Given the description of an element on the screen output the (x, y) to click on. 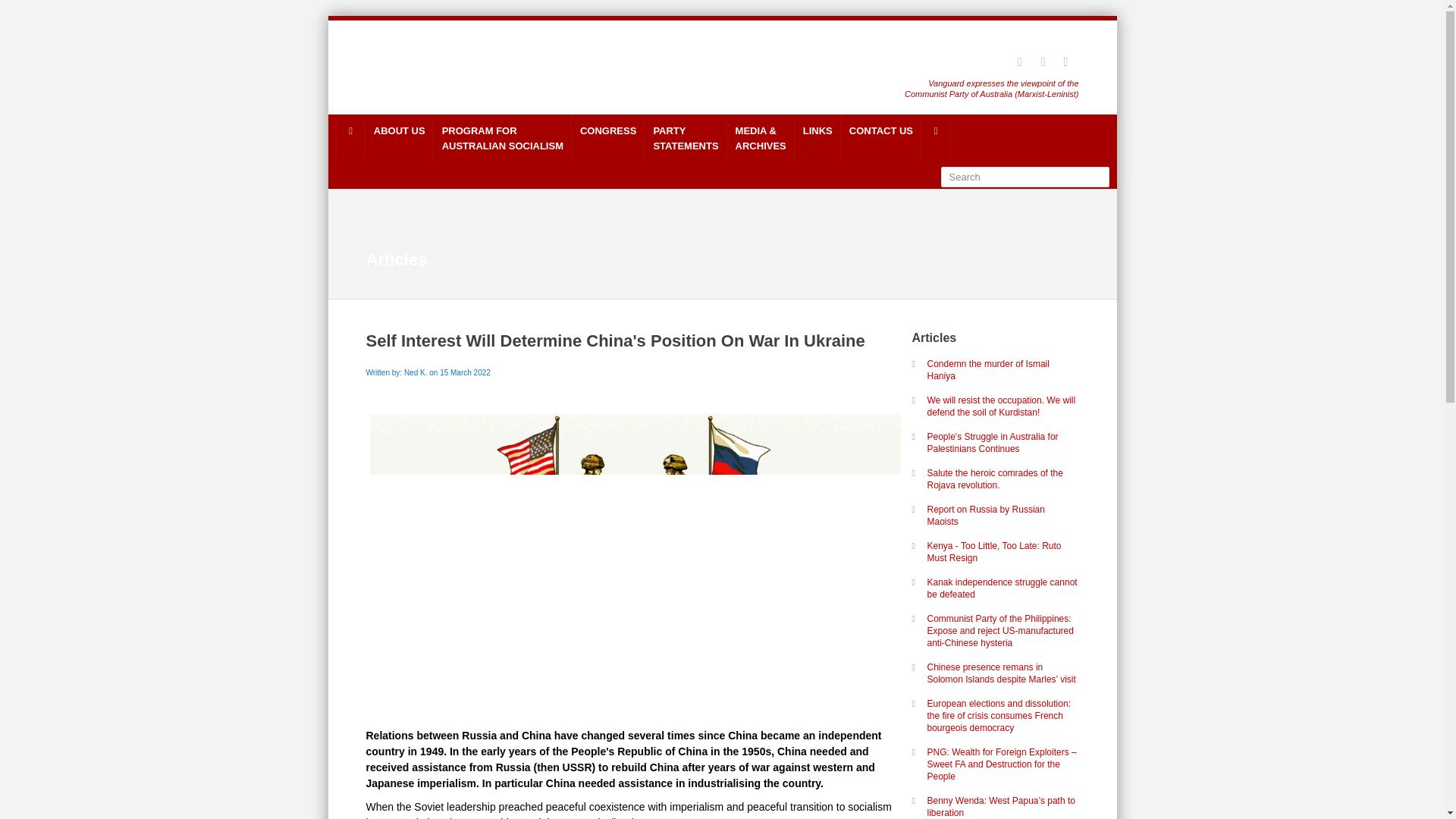
Search (398, 137)
Search (1024, 177)
